Given the description of an element on the screen output the (x, y) to click on. 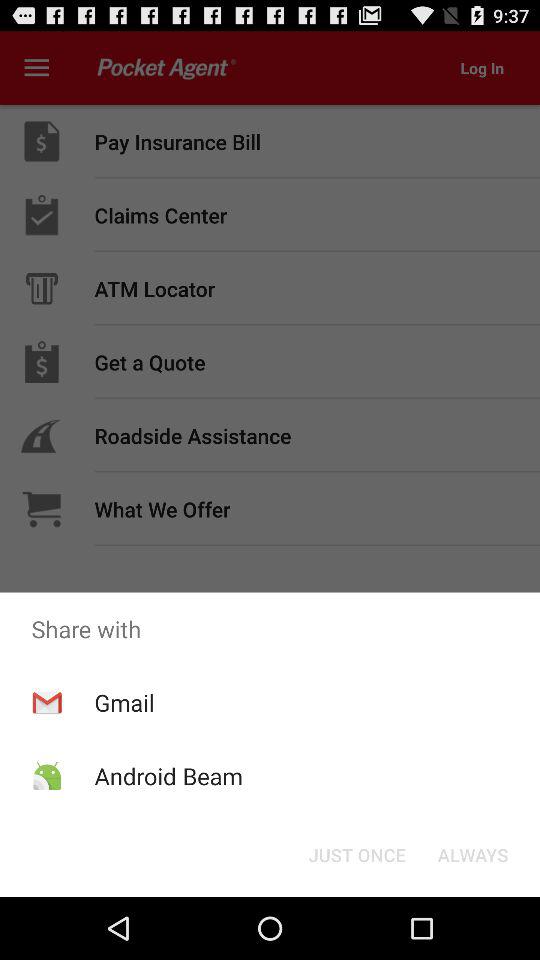
press the app below gmail app (168, 775)
